Given the description of an element on the screen output the (x, y) to click on. 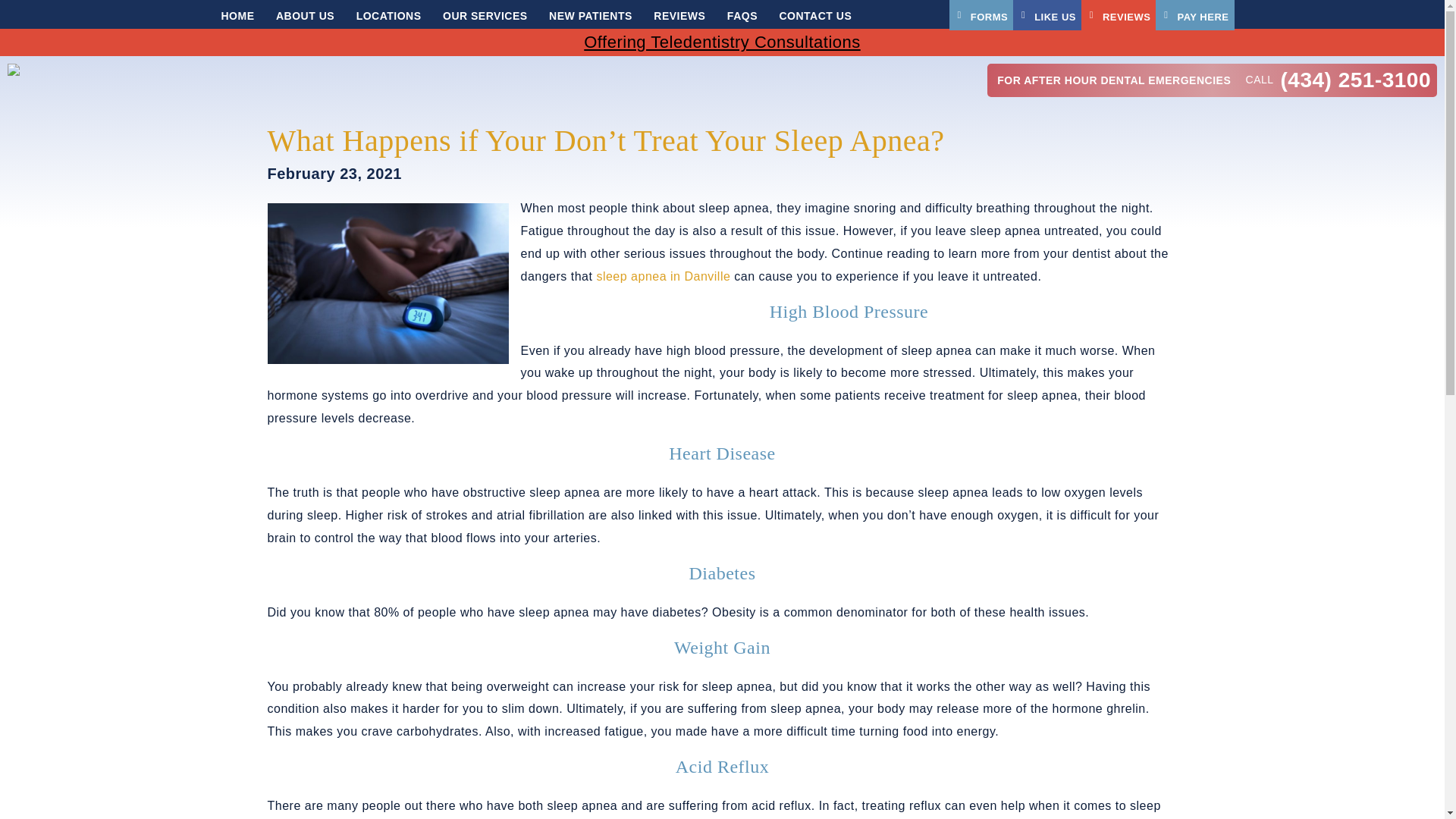
HOME (237, 14)
REVIEWS (1118, 15)
LIKE US (1047, 15)
ABOUT US (304, 14)
LOCATIONS (389, 14)
PAY HERE (1194, 15)
FORMS (981, 15)
